Given the description of an element on the screen output the (x, y) to click on. 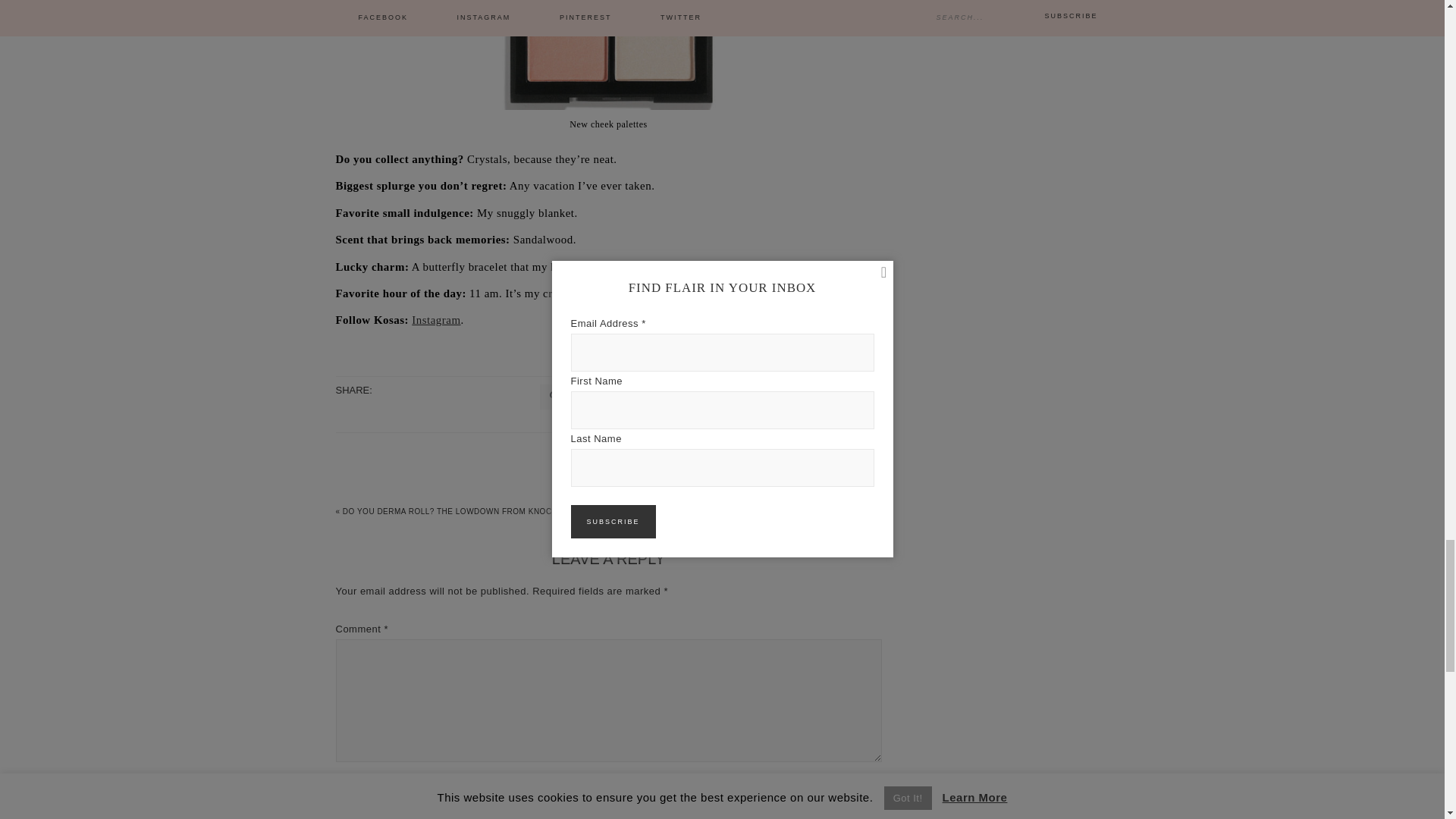
Pinterest (577, 396)
Click to share on Facebook (734, 396)
Click to share on Pinterest (577, 396)
Twitter (655, 396)
Facebook (734, 396)
Instagram (436, 319)
Click to share on Twitter (655, 396)
